Given the description of an element on the screen output the (x, y) to click on. 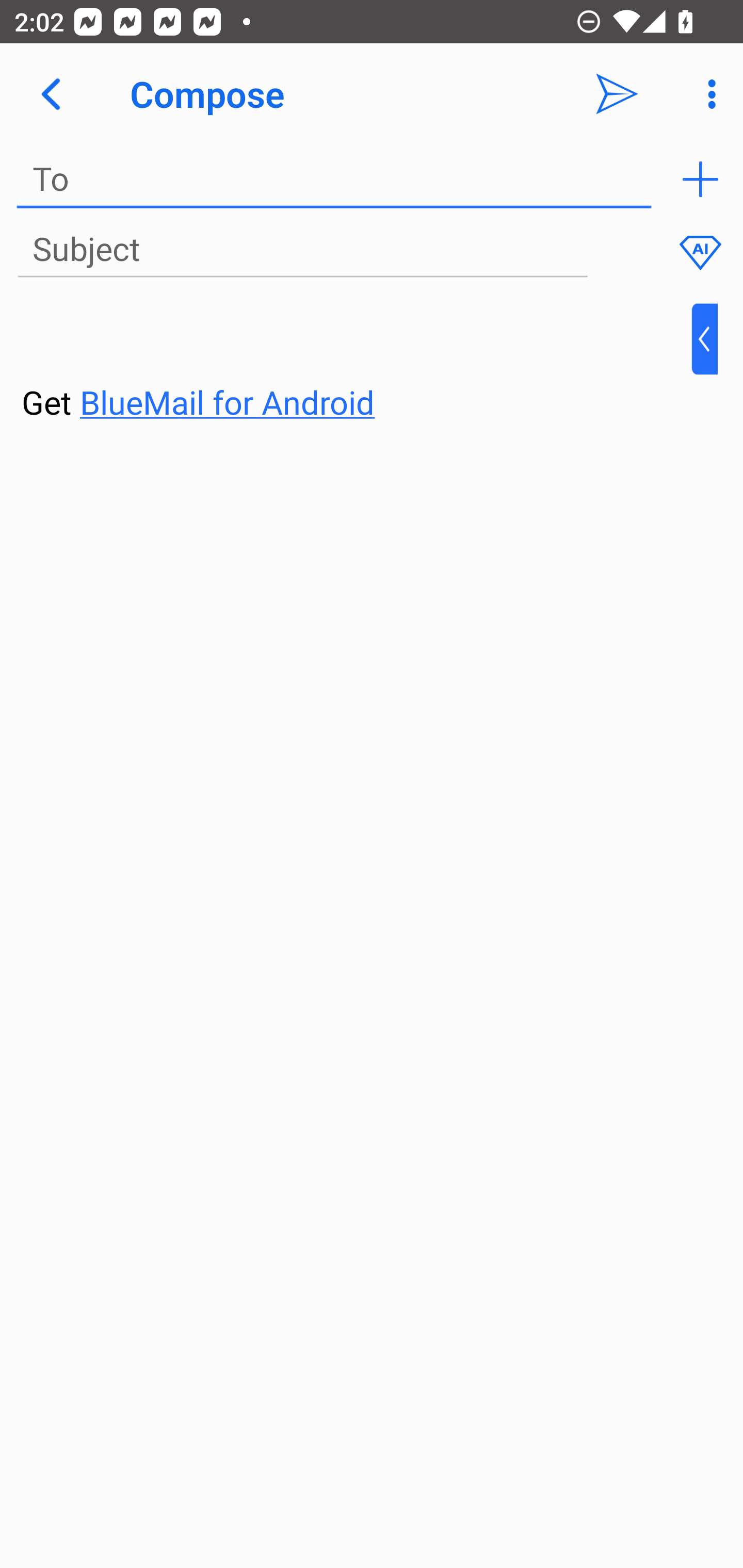
Navigate up (50, 93)
Send (616, 93)
More Options (706, 93)
To (334, 179)
Add recipient (To) (699, 179)
Subject (302, 249)


⁣Get BlueMail for Android ​ (355, 363)
